Given the description of an element on the screen output the (x, y) to click on. 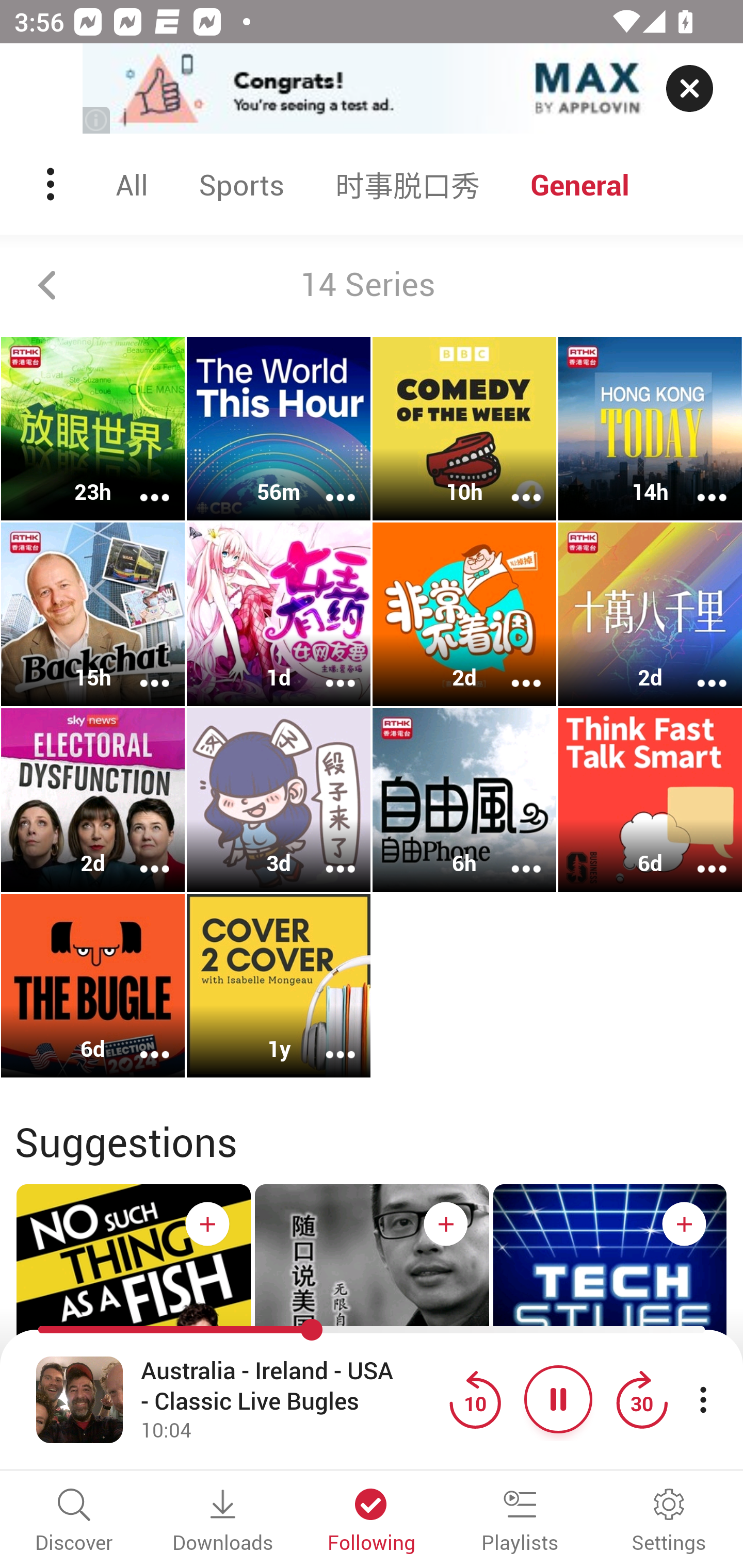
app-monetization (371, 88)
(i) (96, 119)
Menu (52, 184)
All (131, 184)
Sports (241, 184)
时事脱口秀 (407, 184)
General (579, 184)
14 Series (371, 285)
放眼世界 23h More options More options (92, 428)
The World This Hour 56m More options More options (278, 428)
Comedy of the Week 10h More options More options (464, 428)
Hong Kong Today 14h More options More options (650, 428)
More options (141, 484)
More options (326, 484)
More options (512, 484)
More options (698, 484)
Backchat 15h More options More options (92, 614)
女王有药丨爆笑脱口秀 1d More options More options (278, 614)
非常不着调 2d More options More options (464, 614)
十萬八千里 2d More options More options (650, 614)
More options (141, 669)
More options (326, 669)
More options (512, 669)
More options (698, 669)
Electoral Dysfunction 2d More options More options (92, 799)
段子来了 3d More options More options (278, 799)
自由风自由PHONE 6h More options More options (464, 799)
More options (141, 856)
More options (326, 856)
More options (512, 856)
More options (698, 856)
The Bugle 6d More options More options (92, 985)
Cover 2 Cover 1y More options More options (278, 985)
More options (141, 1041)
More options (326, 1041)
随口说美国 随口说美国 Subscribe button (371, 1339)
TechStuff TechStuff Subscribe button (609, 1335)
Subscribe button (207, 1223)
Subscribe button (446, 1223)
Subscribe button (684, 1223)
Open fullscreen player (79, 1399)
More player controls (703, 1399)
Australia - Ireland - USA - Classic Live Bugles (290, 1385)
Pause button (558, 1398)
Jump back (475, 1399)
Jump forward (641, 1399)
Discover (74, 1521)
Downloads (222, 1521)
Following (371, 1521)
Playlists (519, 1521)
Settings (668, 1521)
